Given the description of an element on the screen output the (x, y) to click on. 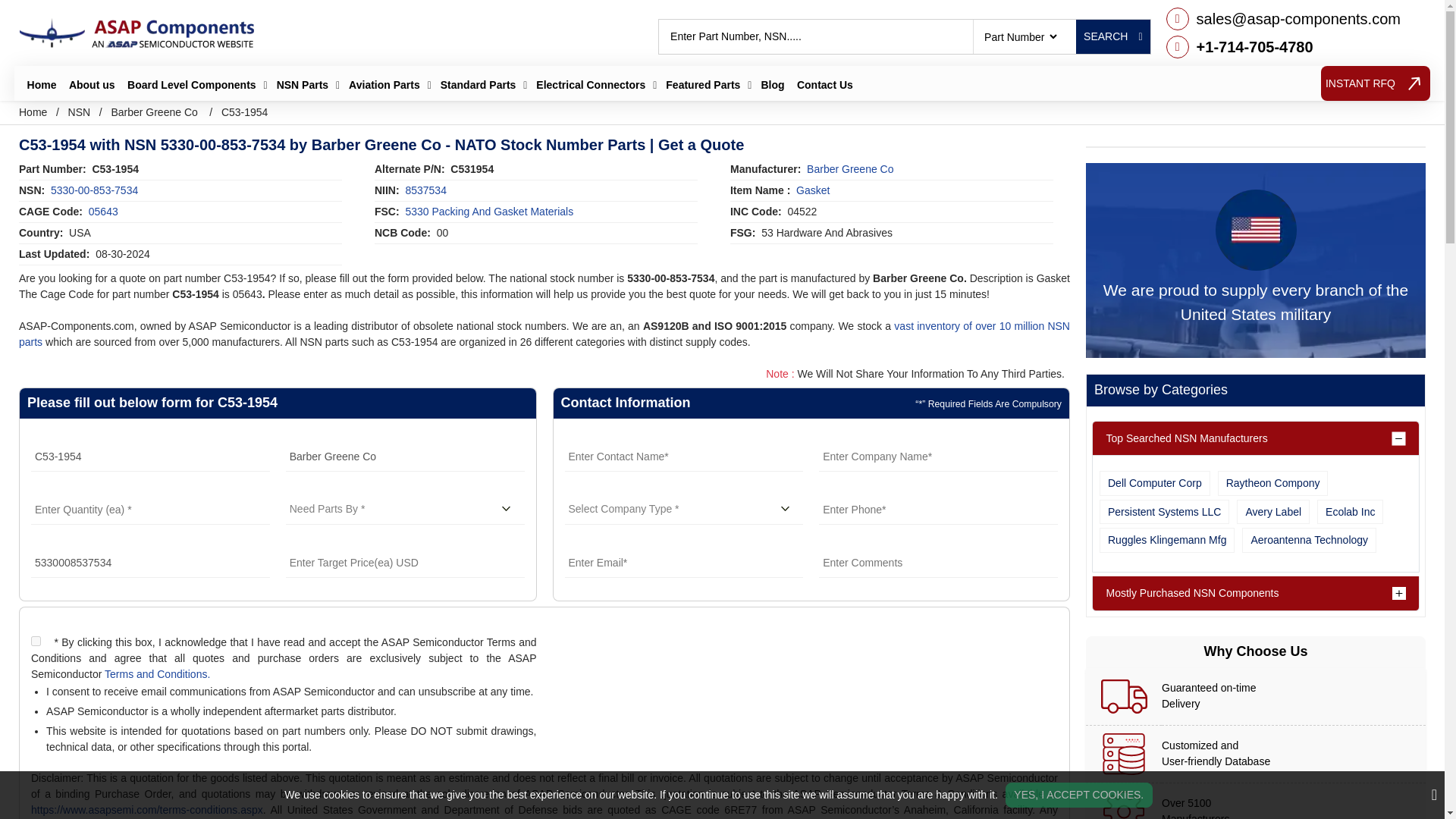
Contact Us (824, 84)
5330008537534 (149, 562)
Electrical Connectors (590, 84)
About us (91, 84)
INSTANT RFQ (1374, 83)
Aviation Parts (384, 84)
Barber Greene Co (404, 456)
Board Level Components (191, 84)
C53-1954 (149, 456)
Featured Parts (702, 84)
